Given the description of an element on the screen output the (x, y) to click on. 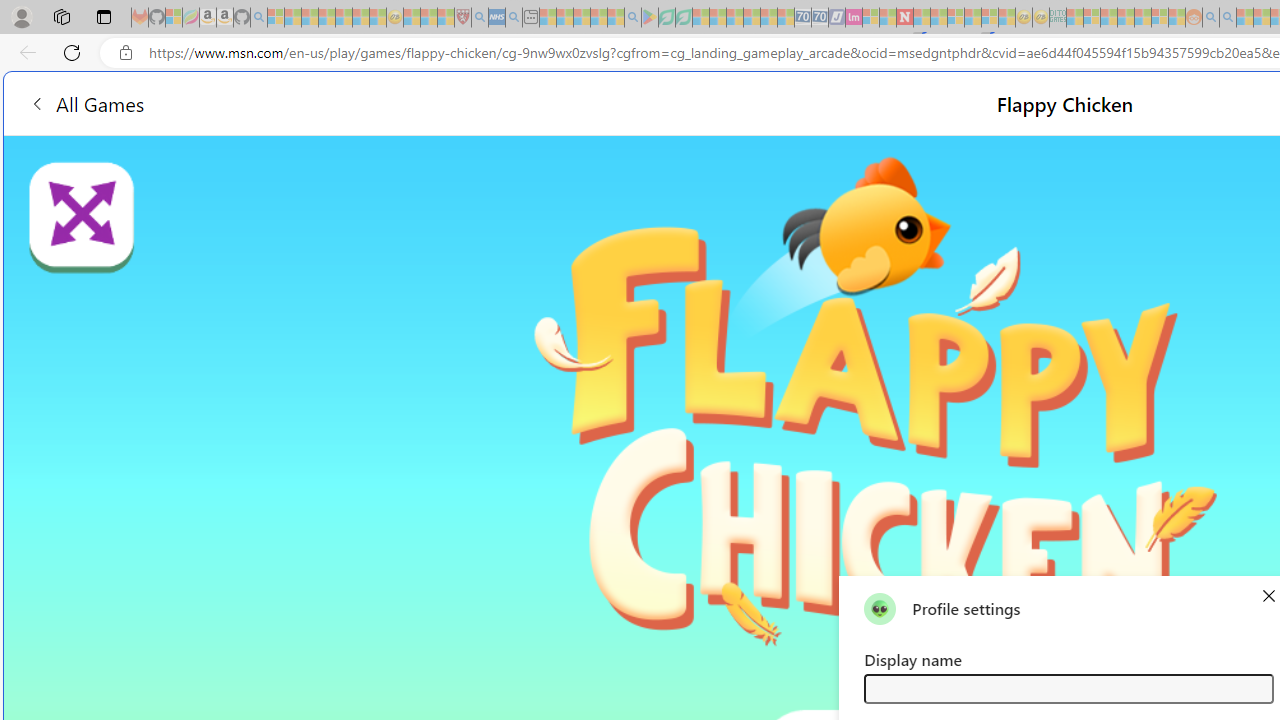
All Games (86, 102)
Cheap Car Rentals - Save70.com - Sleeping (802, 17)
14 Common Myths Debunked By Scientific Facts - Sleeping (938, 17)
Utah sues federal government - Search - Sleeping (1227, 17)
Microsoft Start - Sleeping (1244, 17)
Back (24, 52)
Microsoft account | Privacy - Sleeping (1091, 17)
Microsoft-Report a Concern to Bing - Sleeping (173, 17)
Pets - MSN - Sleeping (598, 17)
DITOGAMES AG Imprint - Sleeping (1057, 17)
list of asthma inhalers uk - Search - Sleeping (479, 17)
Jobs - lastminute.com Investor Portal - Sleeping (853, 17)
